Given the description of an element on the screen output the (x, y) to click on. 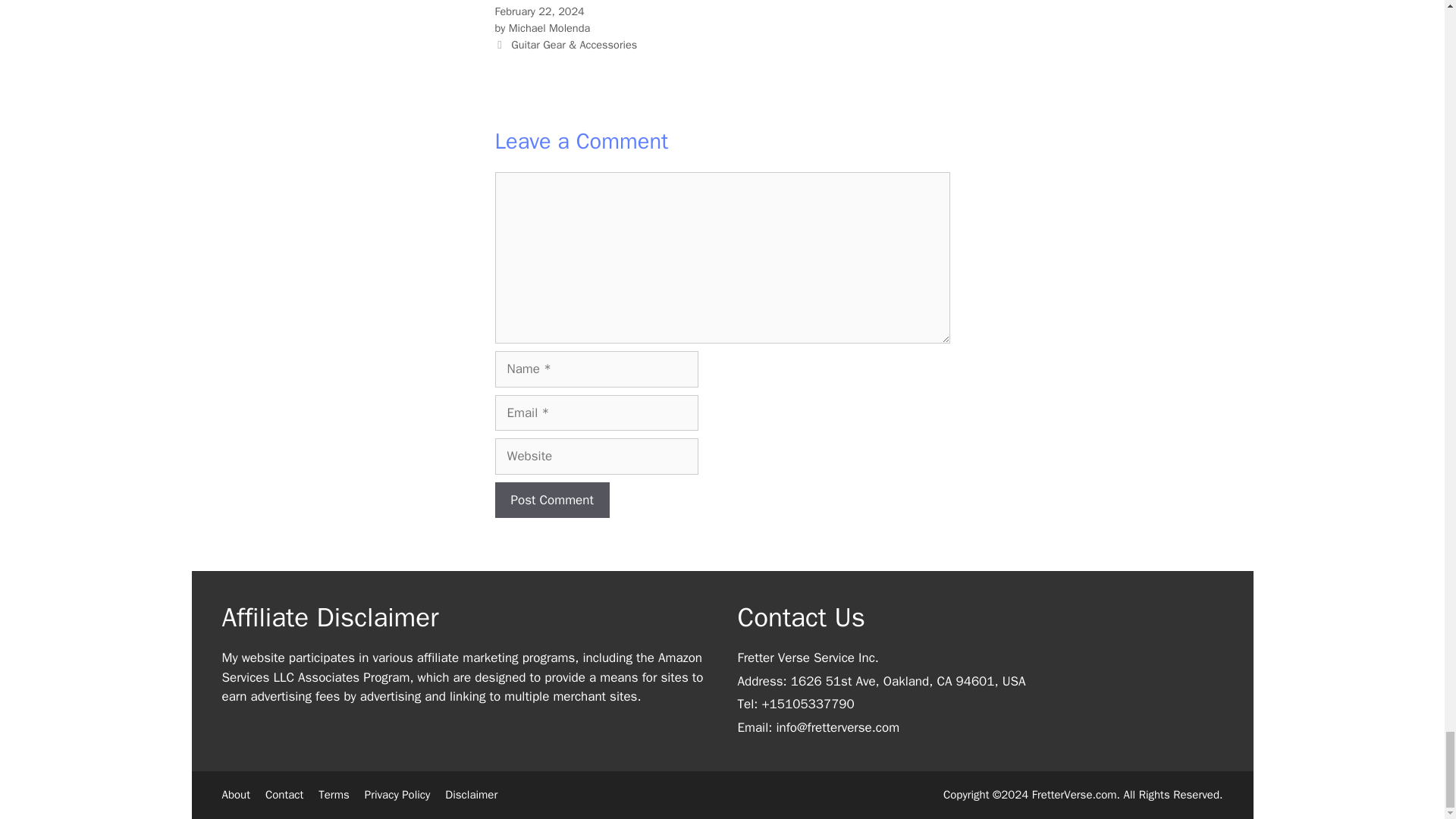
Post Comment (551, 500)
View all posts by Michael Molenda (549, 28)
11:08 am (539, 11)
